Given the description of an element on the screen output the (x, y) to click on. 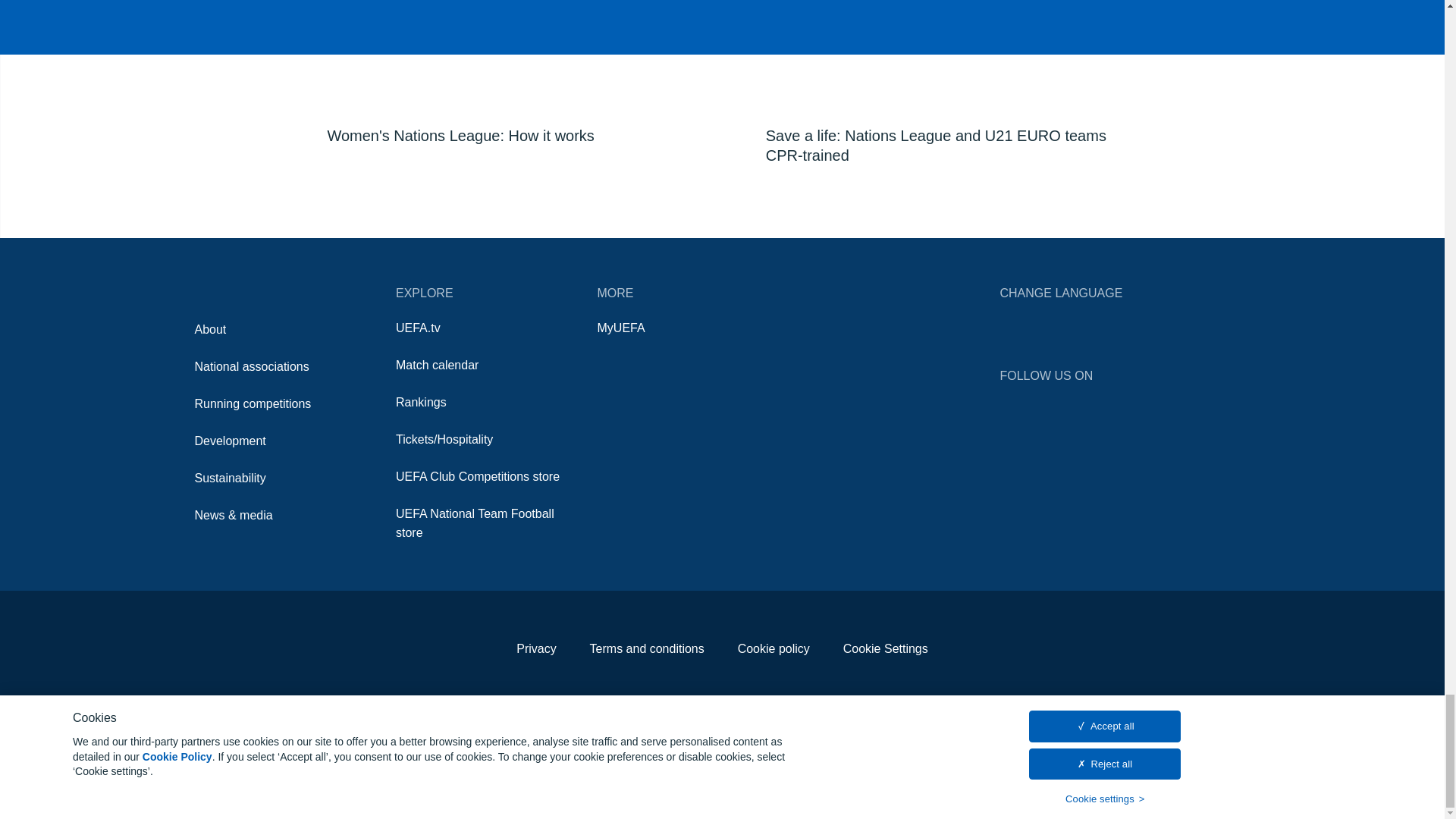
UEFA Club Competitions store (477, 476)
UEFA National Team Football store (475, 522)
National associations (250, 366)
Running competitions (252, 403)
UEFA.org on Facebook (1035, 403)
Save a life: Nations League and U21 EURO teams CPR-trained (939, 88)
Women's Nations League: How it works (500, 53)
Women's Nations League: How it works (499, 79)
Development (228, 440)
Sustainability (228, 477)
